Given the description of an element on the screen output the (x, y) to click on. 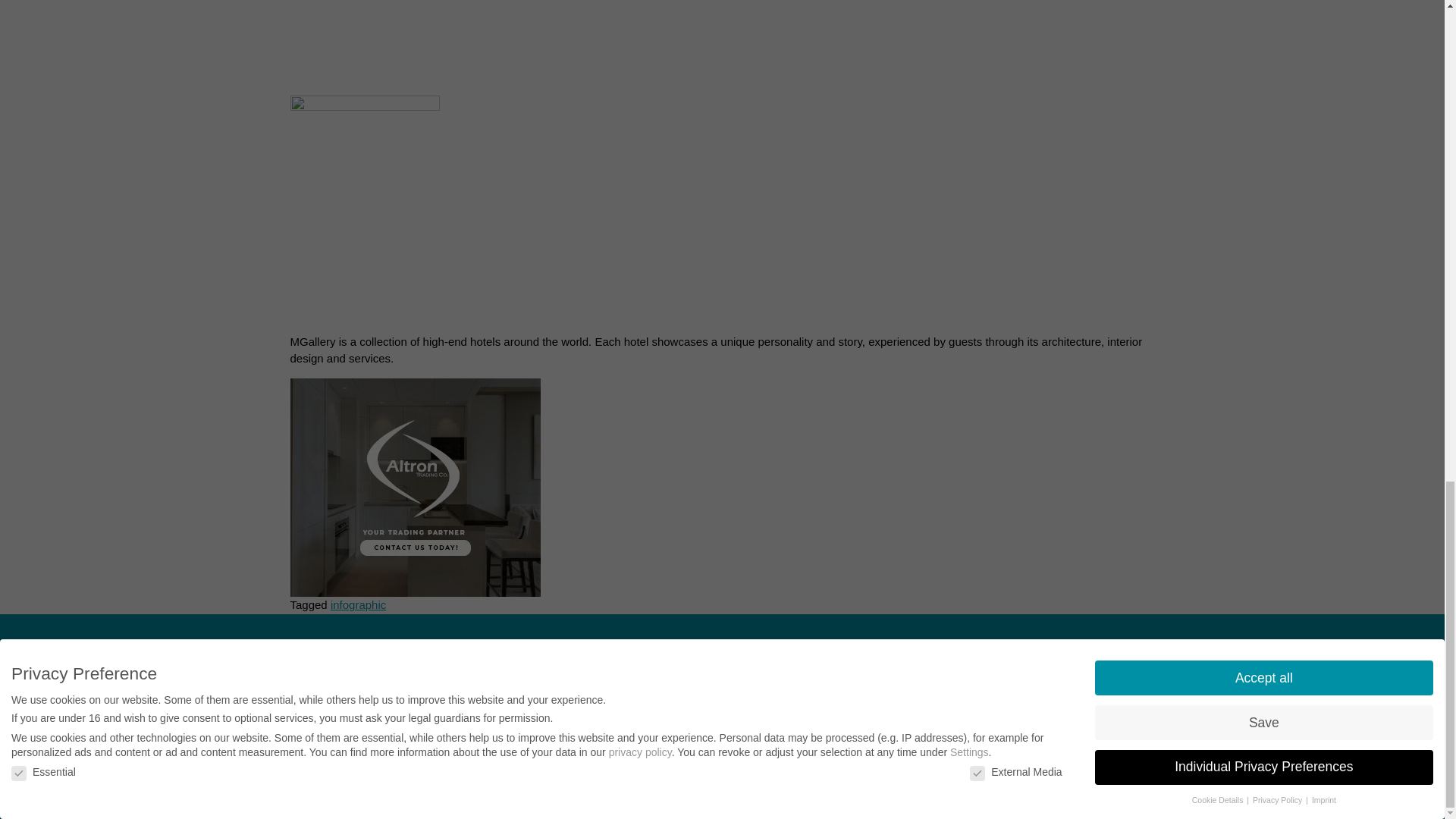
Imprint (164, 667)
Sleeper Media (274, 737)
infographic (357, 604)
Data Security Statement (449, 667)
